Given the description of an element on the screen output the (x, y) to click on. 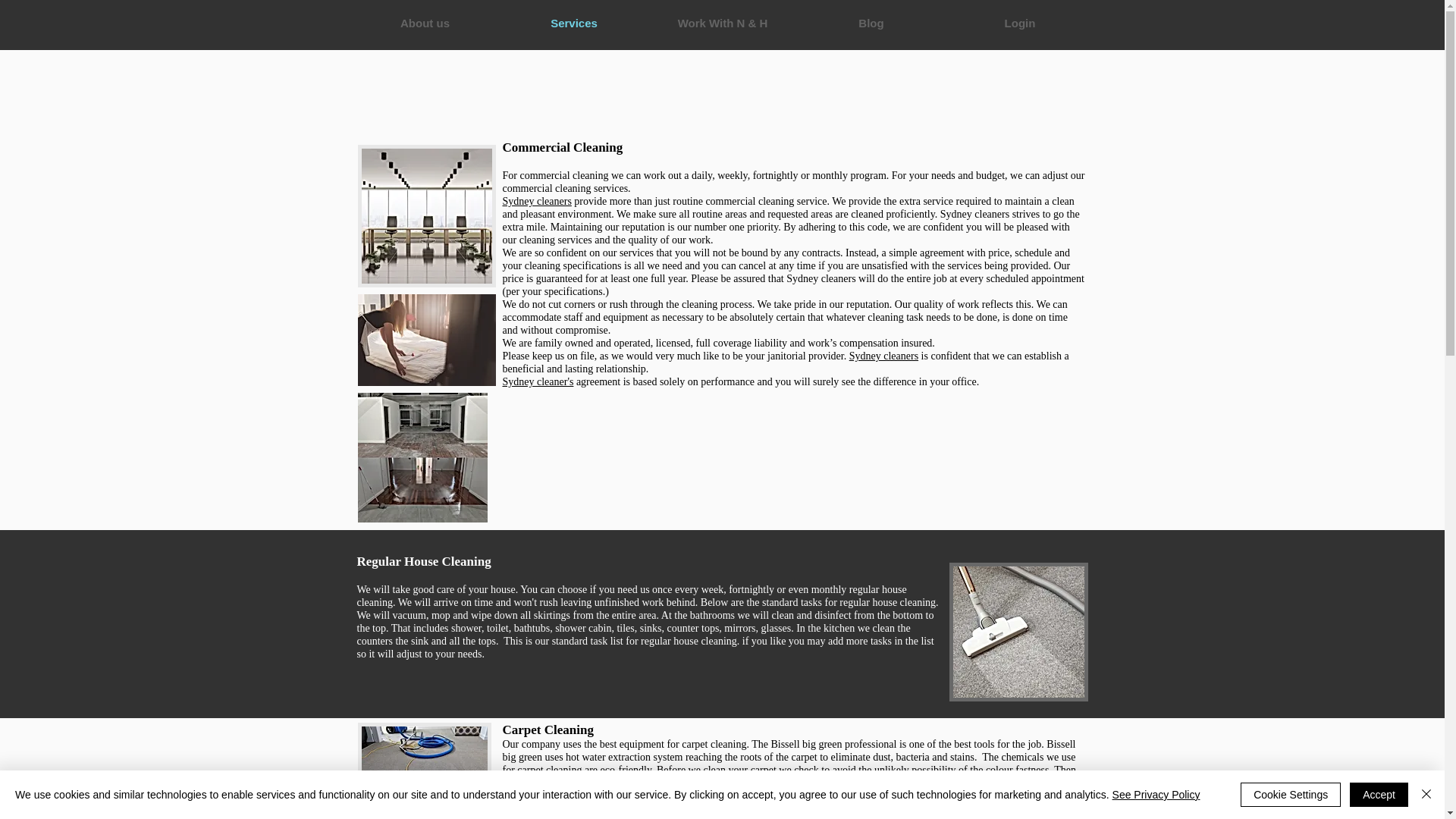
Accept (1378, 794)
Sydney cleaners (883, 355)
Services (573, 23)
Login (1018, 23)
Cookie Settings (1290, 794)
Sydney cleaners (536, 201)
About us (424, 23)
office cleaning.jpg (427, 215)
See Privacy Policy (1155, 794)
rug cleaning.jpg (425, 770)
